Given the description of an element on the screen output the (x, y) to click on. 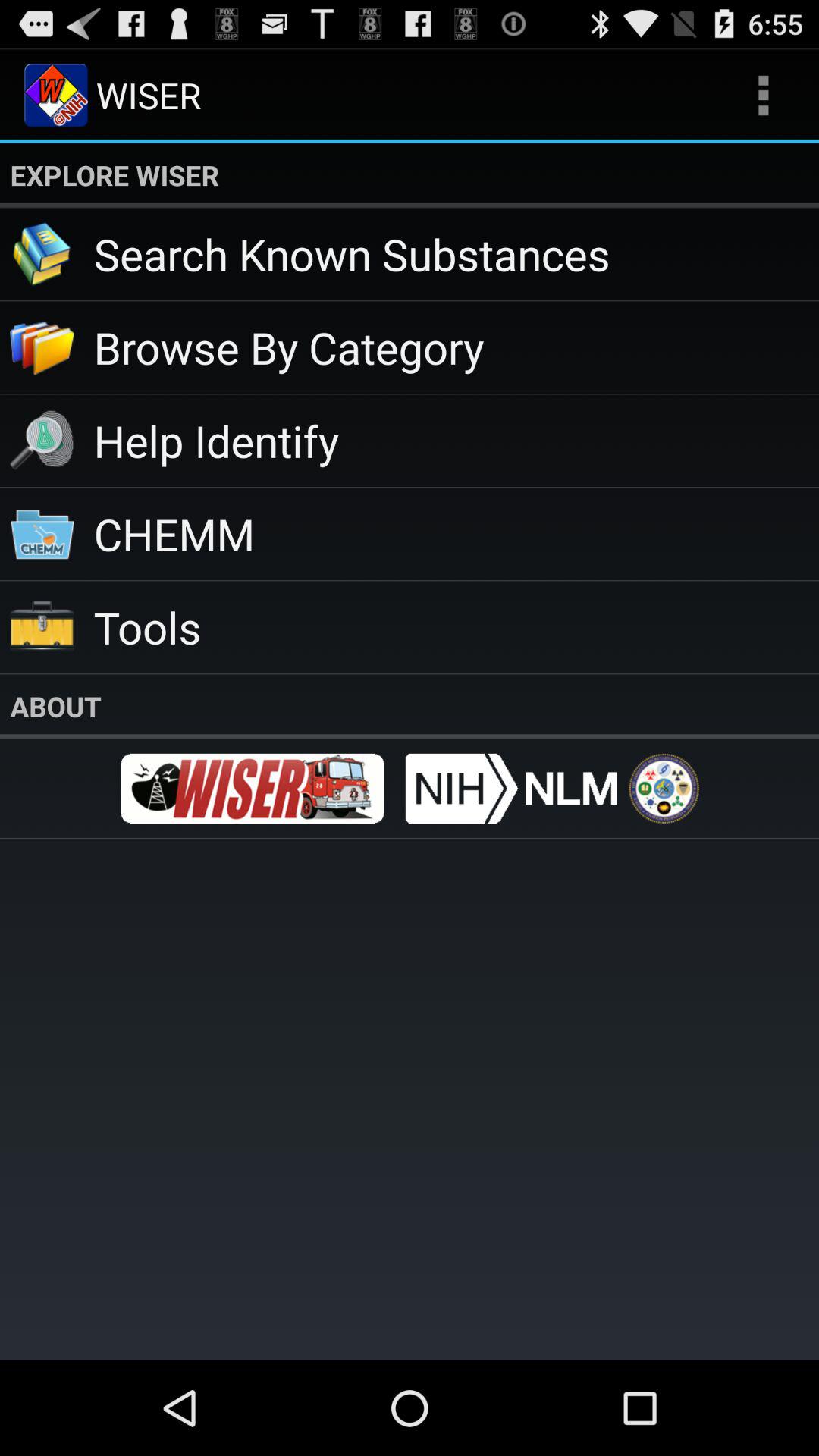
flip to the about (409, 706)
